Given the description of an element on the screen output the (x, y) to click on. 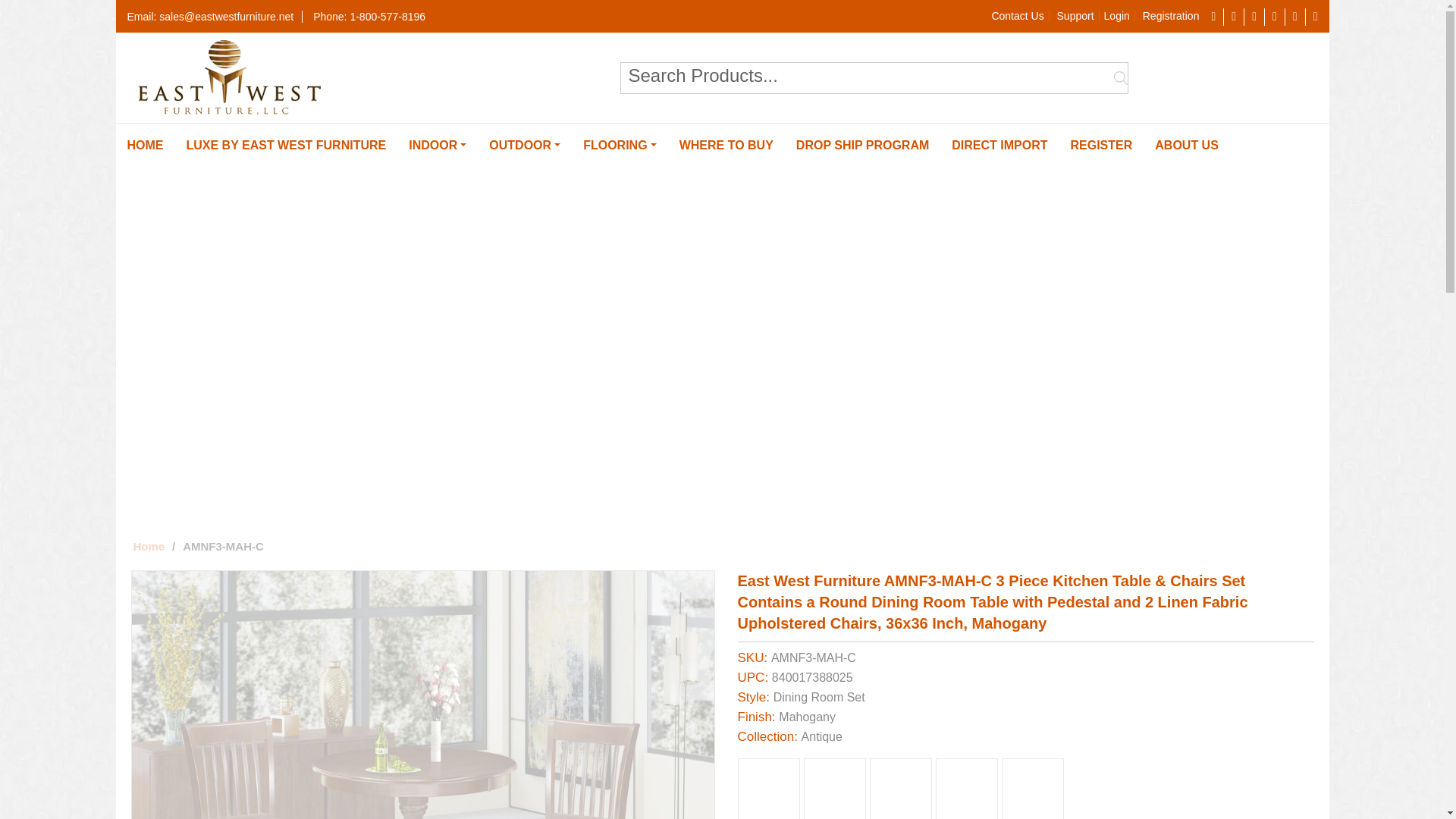
Pin (1254, 16)
DROP SHIP PROGRAM (862, 145)
HOME (144, 145)
Ins (1275, 16)
Home (149, 546)
Contact Us (1017, 15)
East West Furniture Main Site on Facebook (1214, 16)
East West Furniture Main Site on Instagram (1275, 16)
East West Furniture Main Site on Twitter (1234, 16)
LUXE BY EAST WEST FURNITURE (285, 145)
INDOOR (437, 145)
FLOORING (620, 145)
Tum (1295, 16)
WHERE TO BUY (726, 145)
Tw (1234, 16)
